Given the description of an element on the screen output the (x, y) to click on. 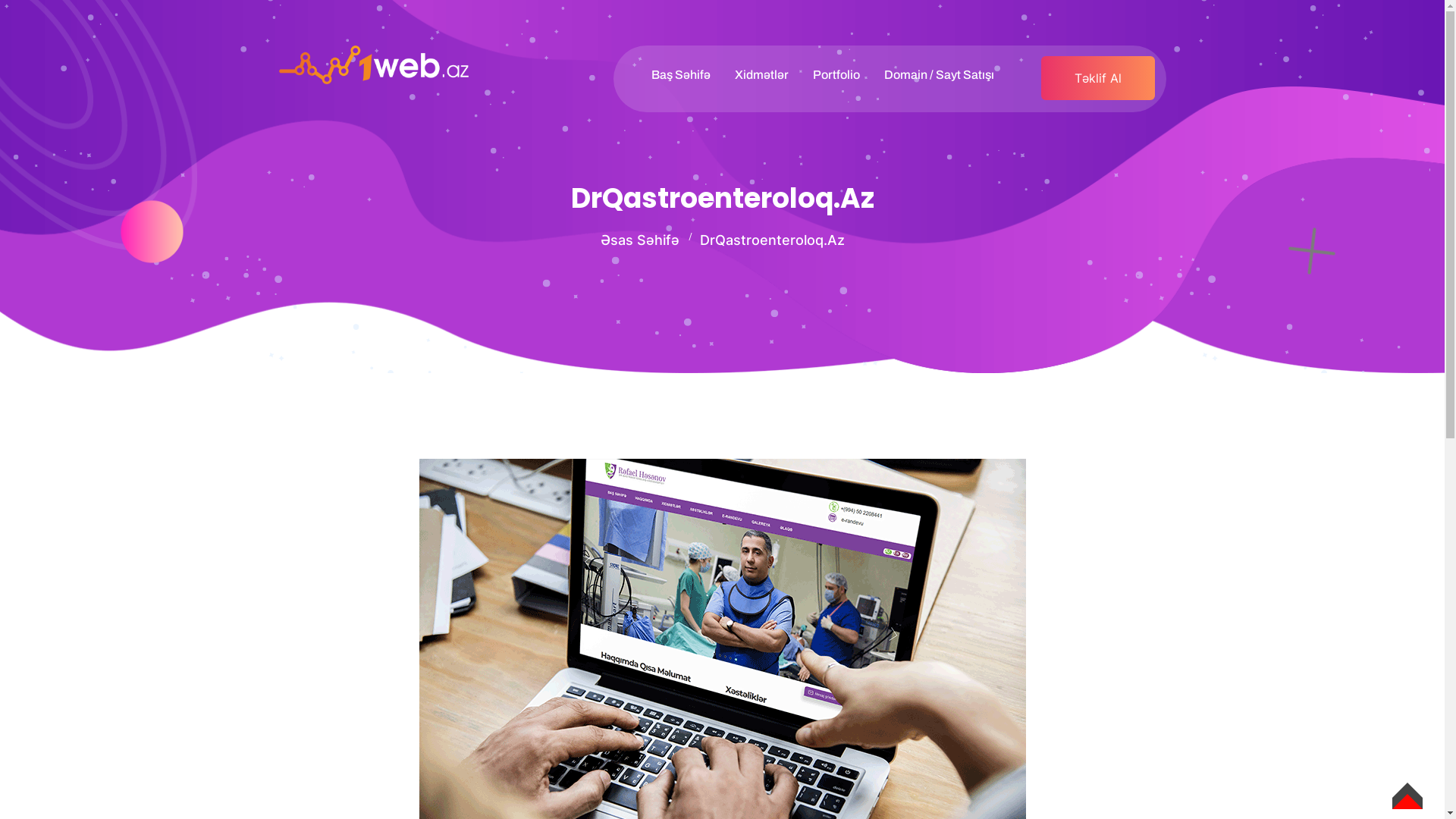
Portfolio Element type: text (836, 74)
